Given the description of an element on the screen output the (x, y) to click on. 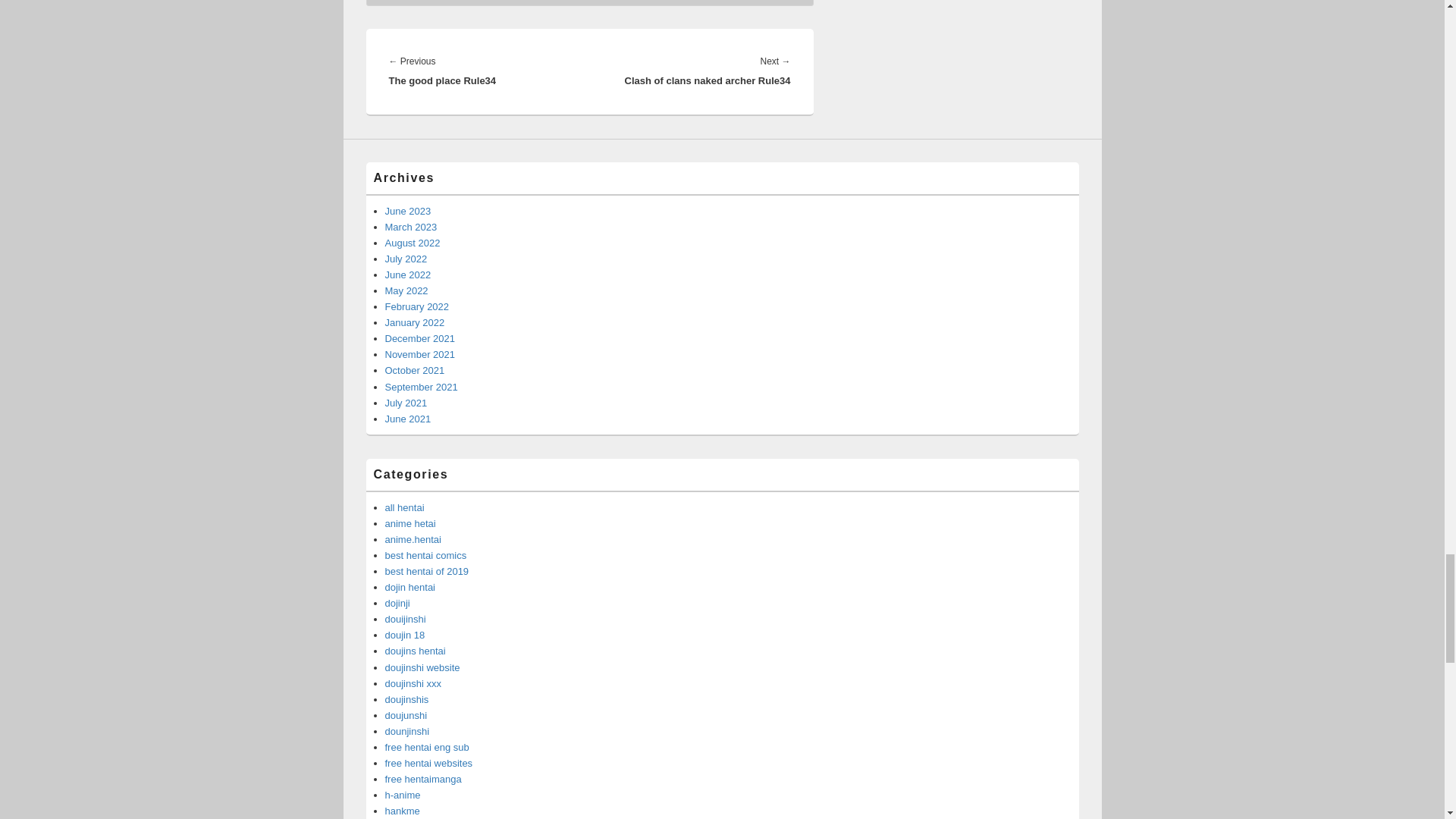
August 2022 (413, 242)
October 2021 (415, 369)
anime hetai (410, 523)
all hentai (405, 507)
July 2021 (406, 402)
June 2023 (407, 211)
July 2022 (406, 258)
January 2022 (415, 322)
May 2022 (406, 290)
March 2023 (411, 226)
June 2022 (407, 274)
November 2021 (420, 354)
December 2021 (420, 337)
February 2022 (417, 306)
September 2021 (421, 386)
